Given the description of an element on the screen output the (x, y) to click on. 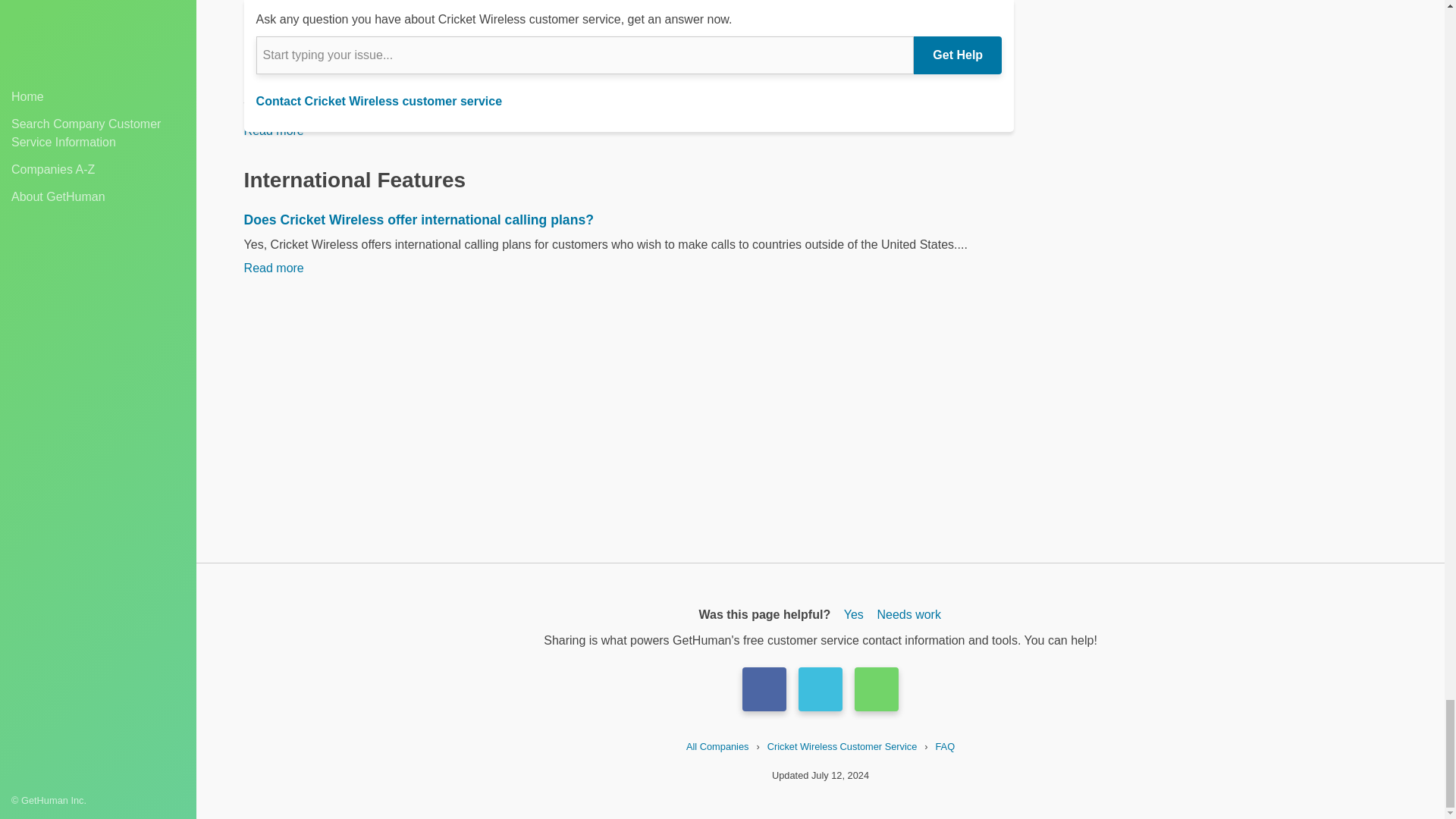
Share via Email (876, 689)
Share with Facebook (764, 689)
Share via Twitter (819, 689)
